Given the description of an element on the screen output the (x, y) to click on. 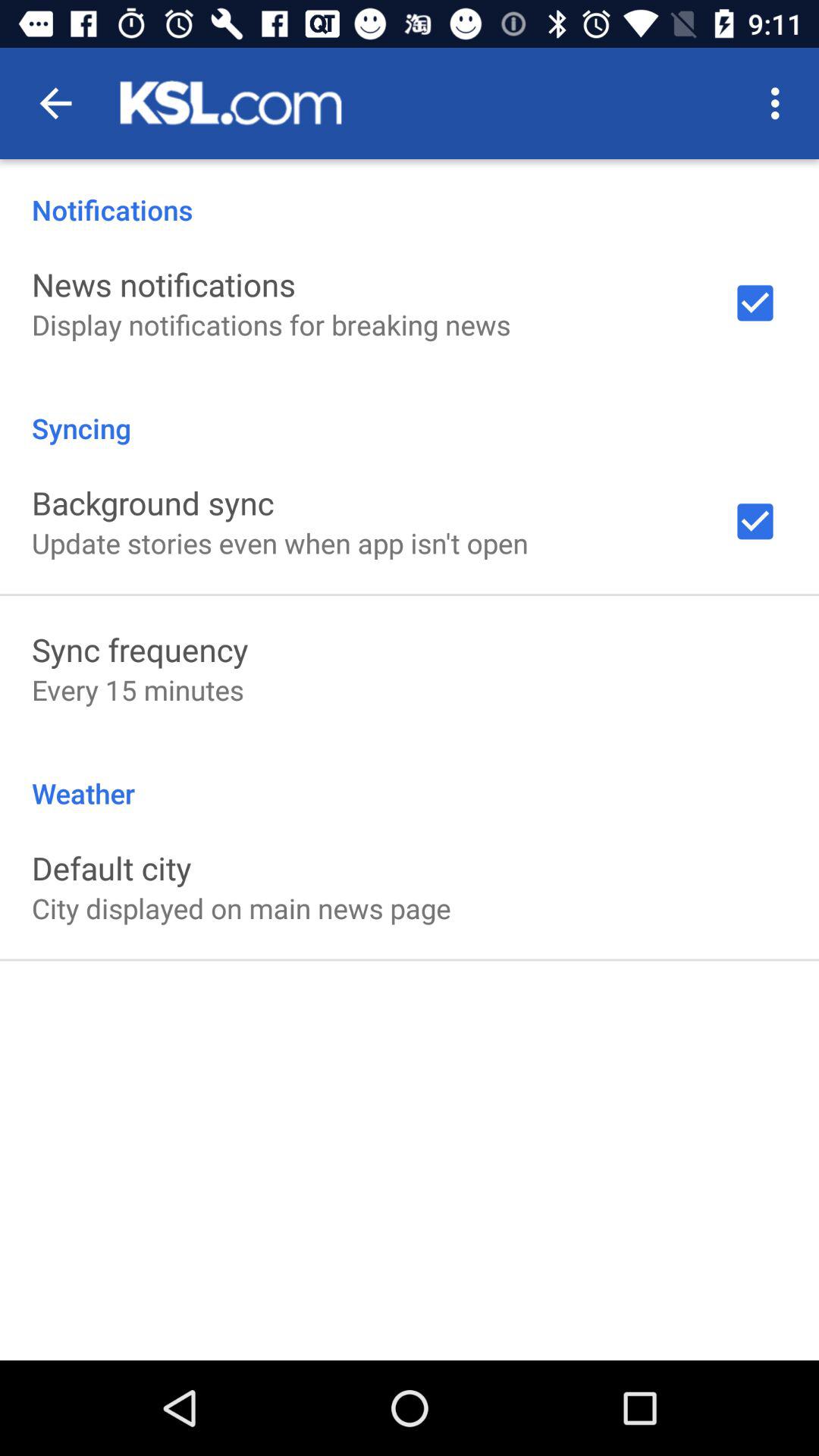
turn on item below the display notifications for (409, 412)
